Given the description of an element on the screen output the (x, y) to click on. 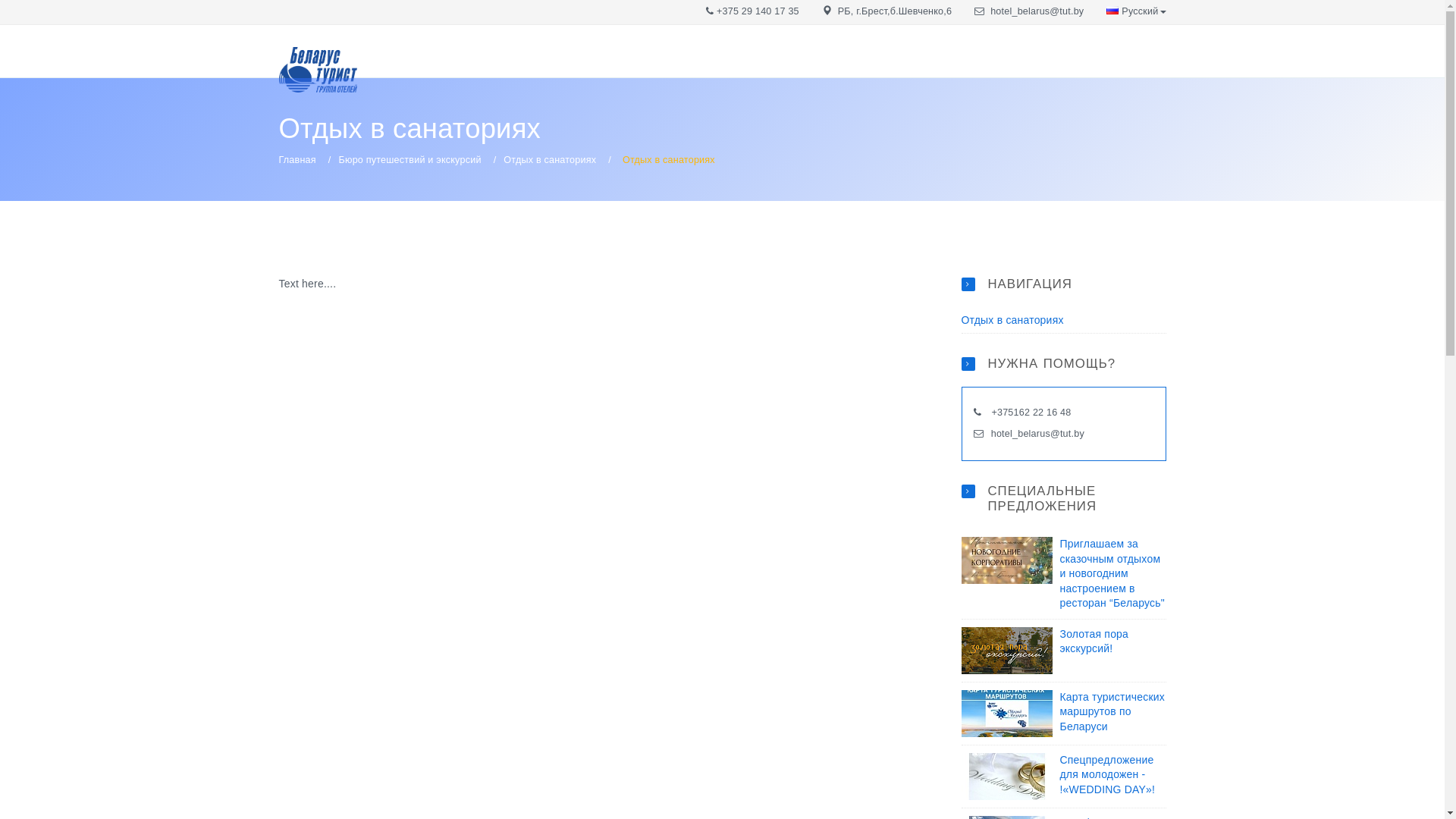
hotel_belarus@tut.by Element type: text (1037, 433)
+375162 22 16 48 Element type: text (1029, 412)
+375 29 140 17 35 Element type: text (757, 11)
hotel_belarus@tut.by Element type: text (1036, 11)
